Given the description of an element on the screen output the (x, y) to click on. 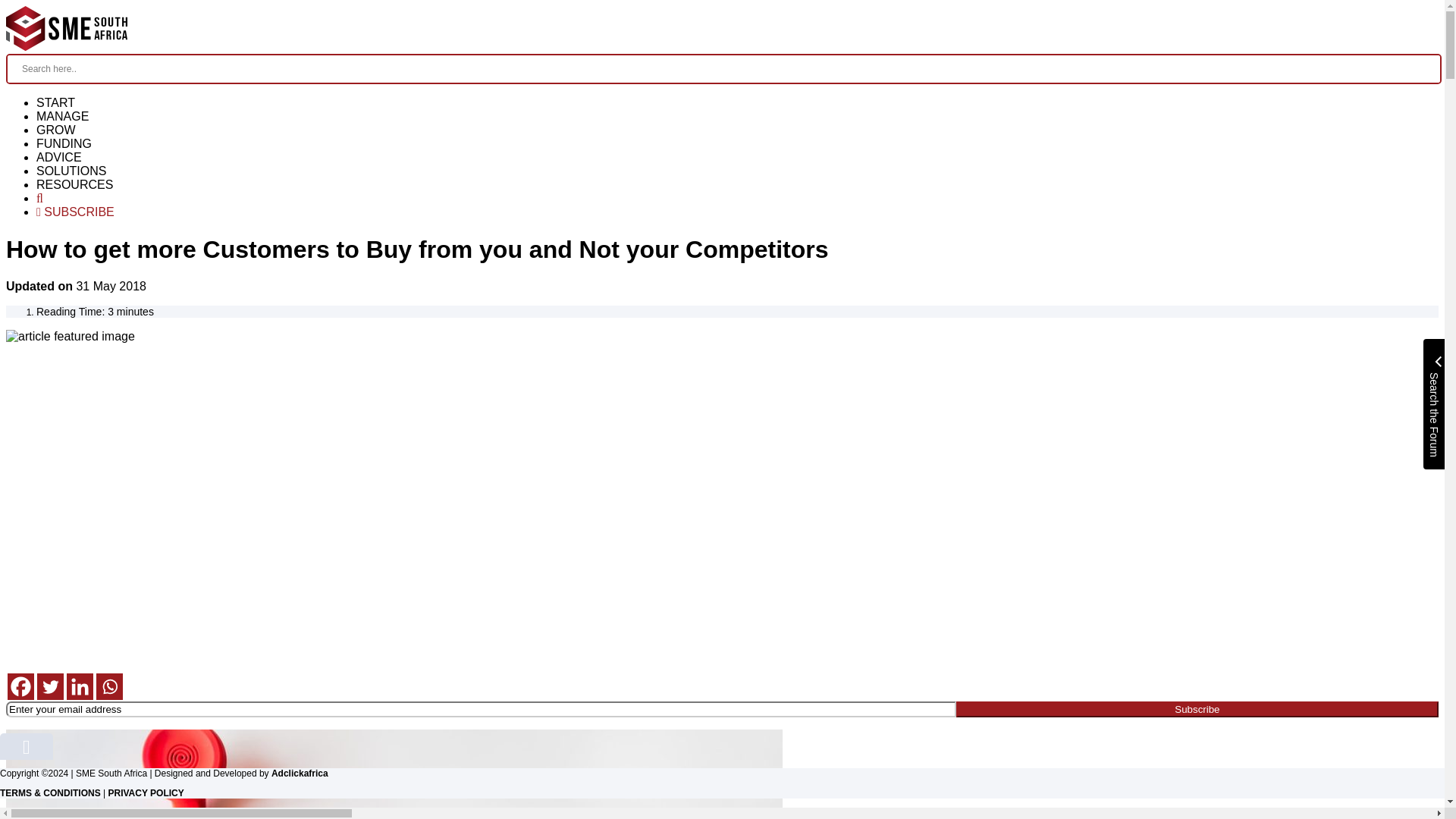
START (55, 102)
SOLUTIONS (71, 170)
MANAGE (62, 115)
Twitter (50, 686)
SUBSCRIBE (75, 211)
FUNDING (63, 143)
RESOURCES (74, 184)
Subscribe (1197, 709)
Whatsapp (109, 686)
ADVICE (58, 156)
